Given the description of an element on the screen output the (x, y) to click on. 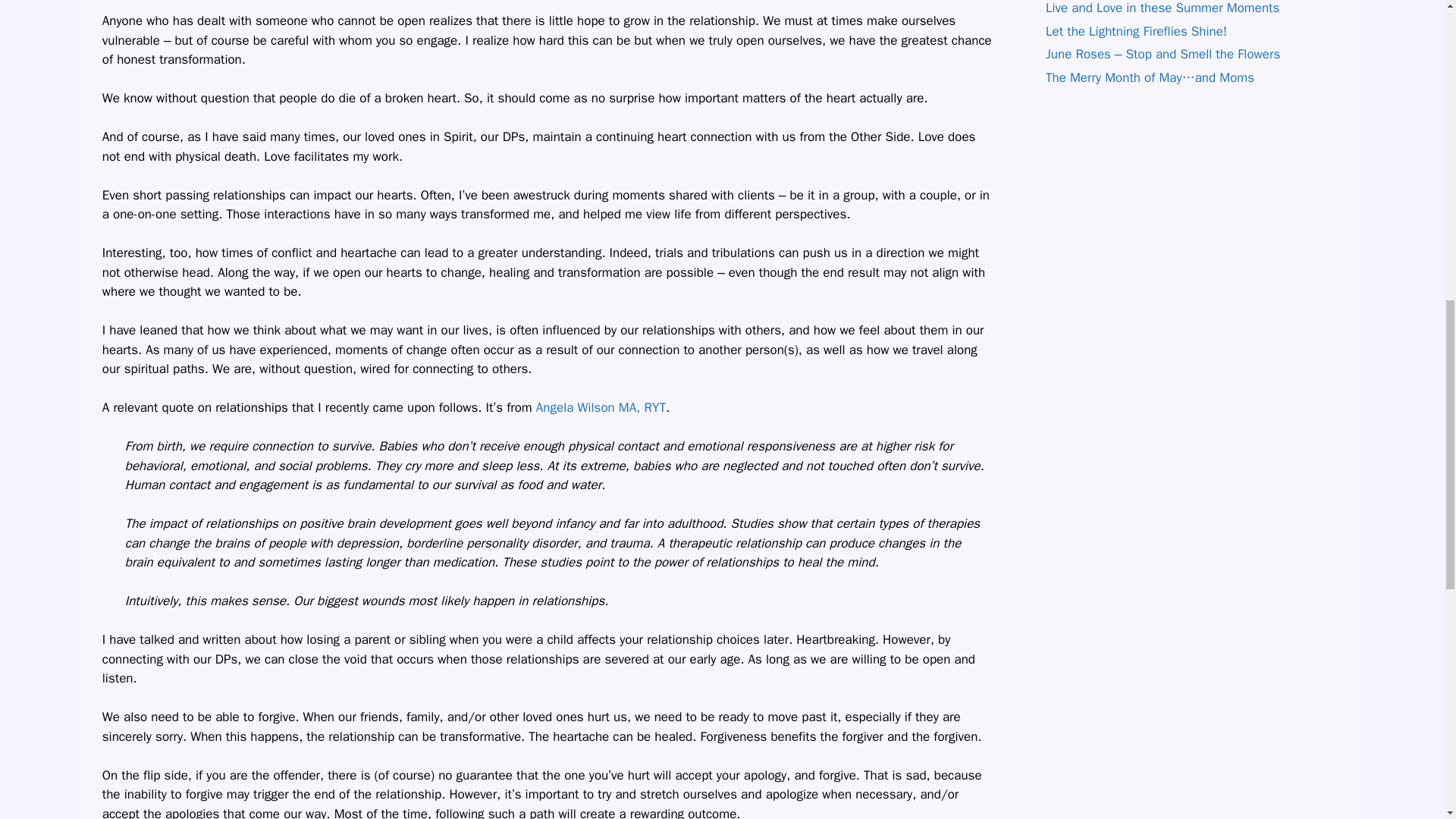
Let the Lightning Fireflies Shine! (1136, 31)
Angela Wilson MA, RYT (600, 407)
Live and Love in these Summer Moments (1162, 7)
